Given the description of an element on the screen output the (x, y) to click on. 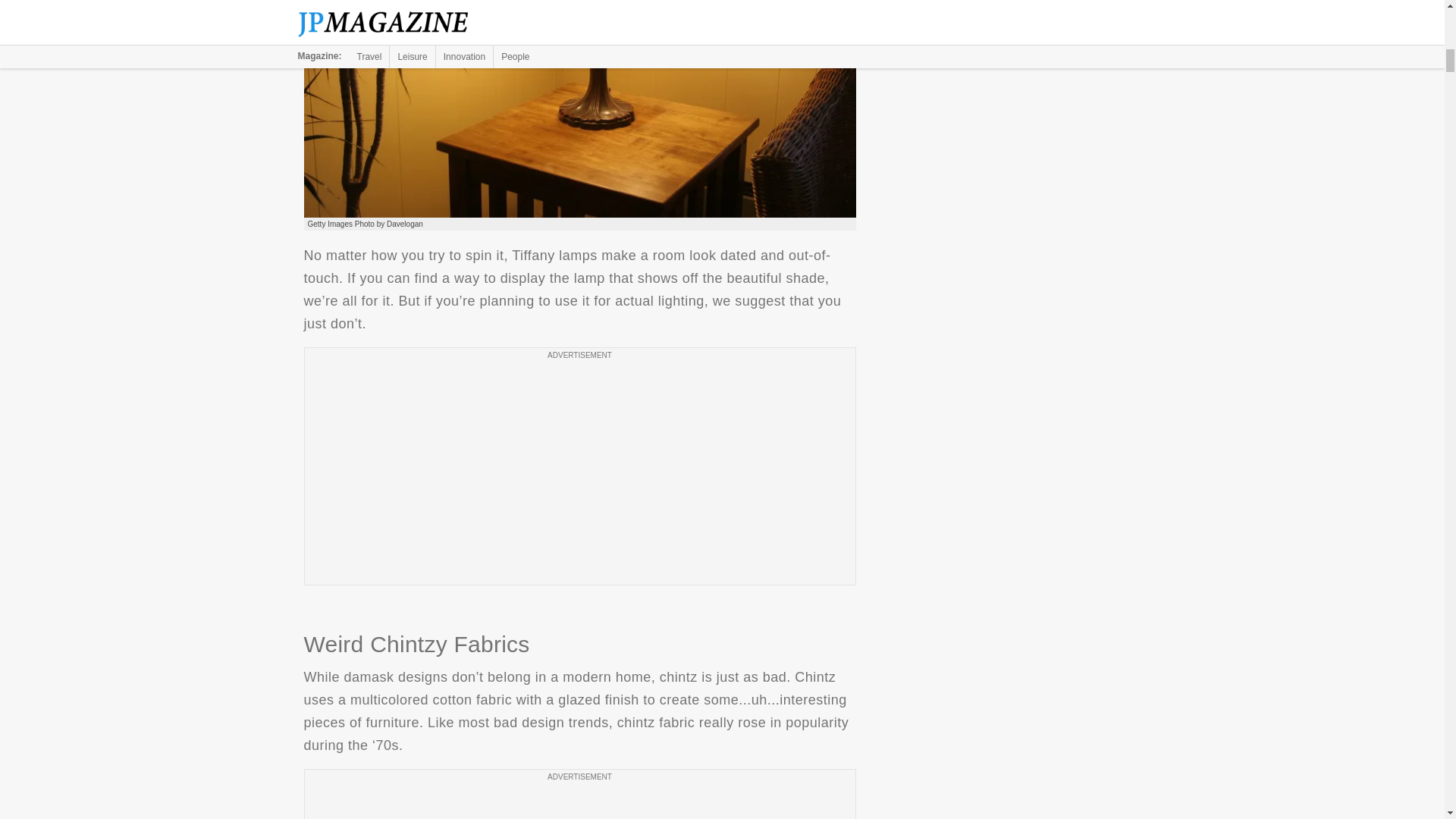
Throw Out the Stained Glass Lamps (579, 108)
